Given the description of an element on the screen output the (x, y) to click on. 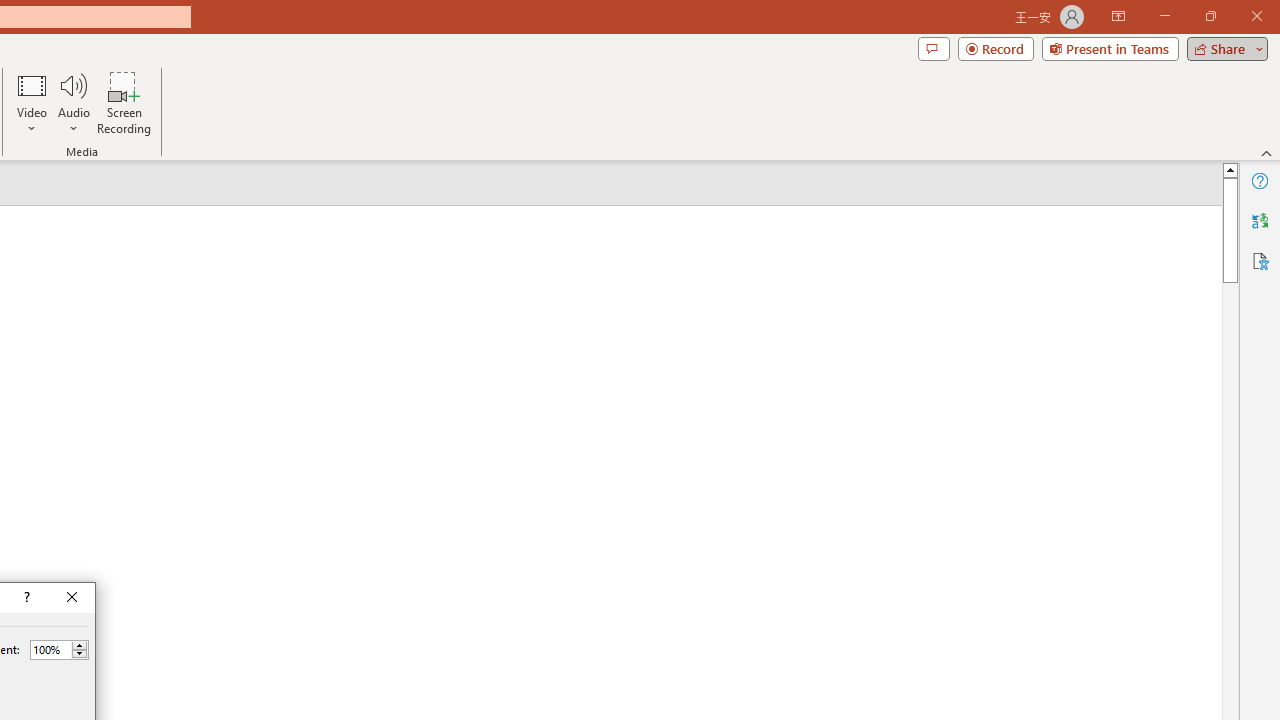
Percent (50, 649)
